Given the description of an element on the screen output the (x, y) to click on. 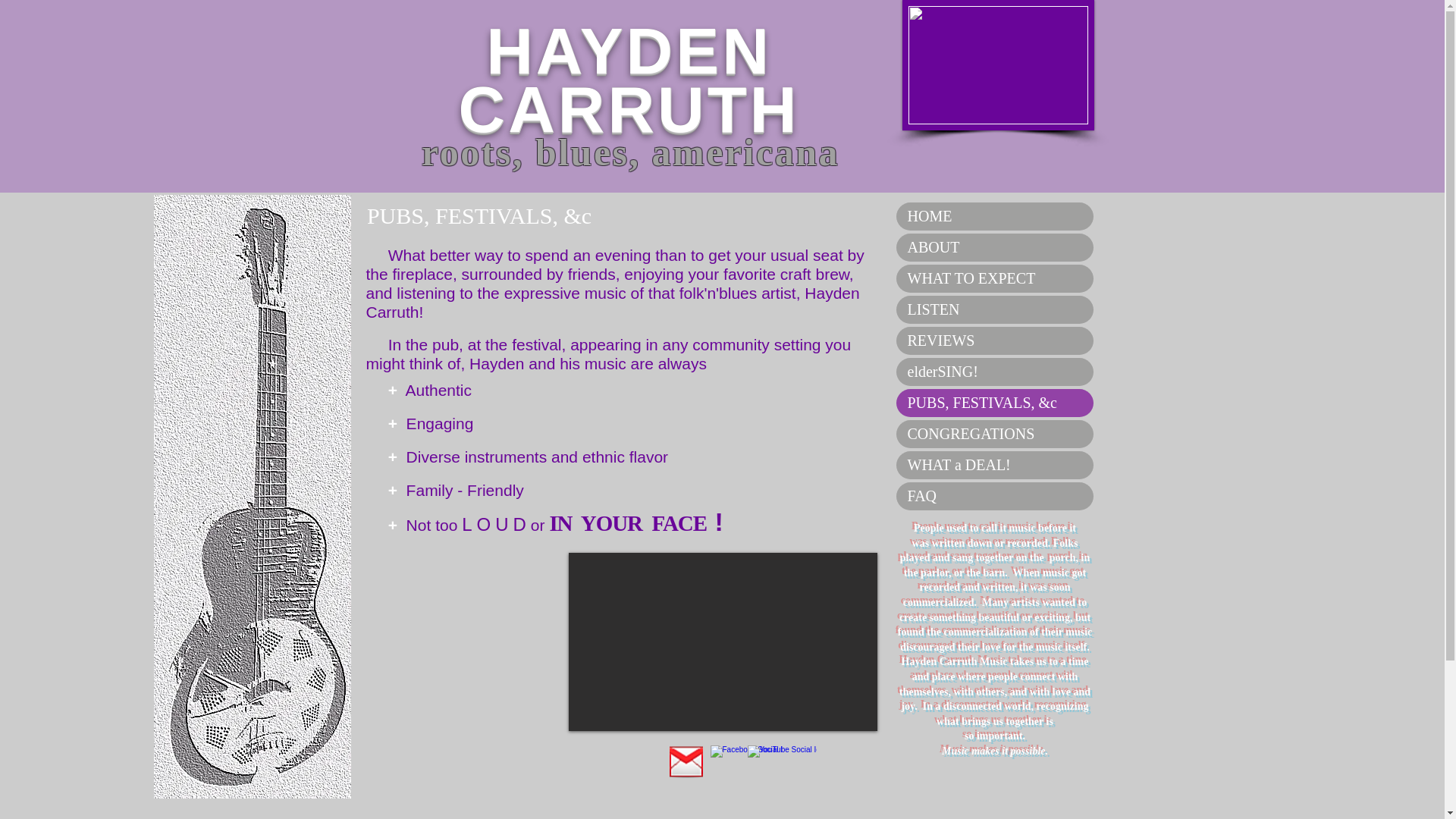
External YouTube (722, 641)
FAQ (994, 496)
REVIEWS (994, 340)
CONGREGATIONS (994, 433)
WHAT TO EXPECT (994, 278)
HOME (994, 216)
ABOUT (994, 247)
WHAT a DEAL! (994, 465)
LISTEN (994, 309)
elderSING! (994, 371)
